Given the description of an element on the screen output the (x, y) to click on. 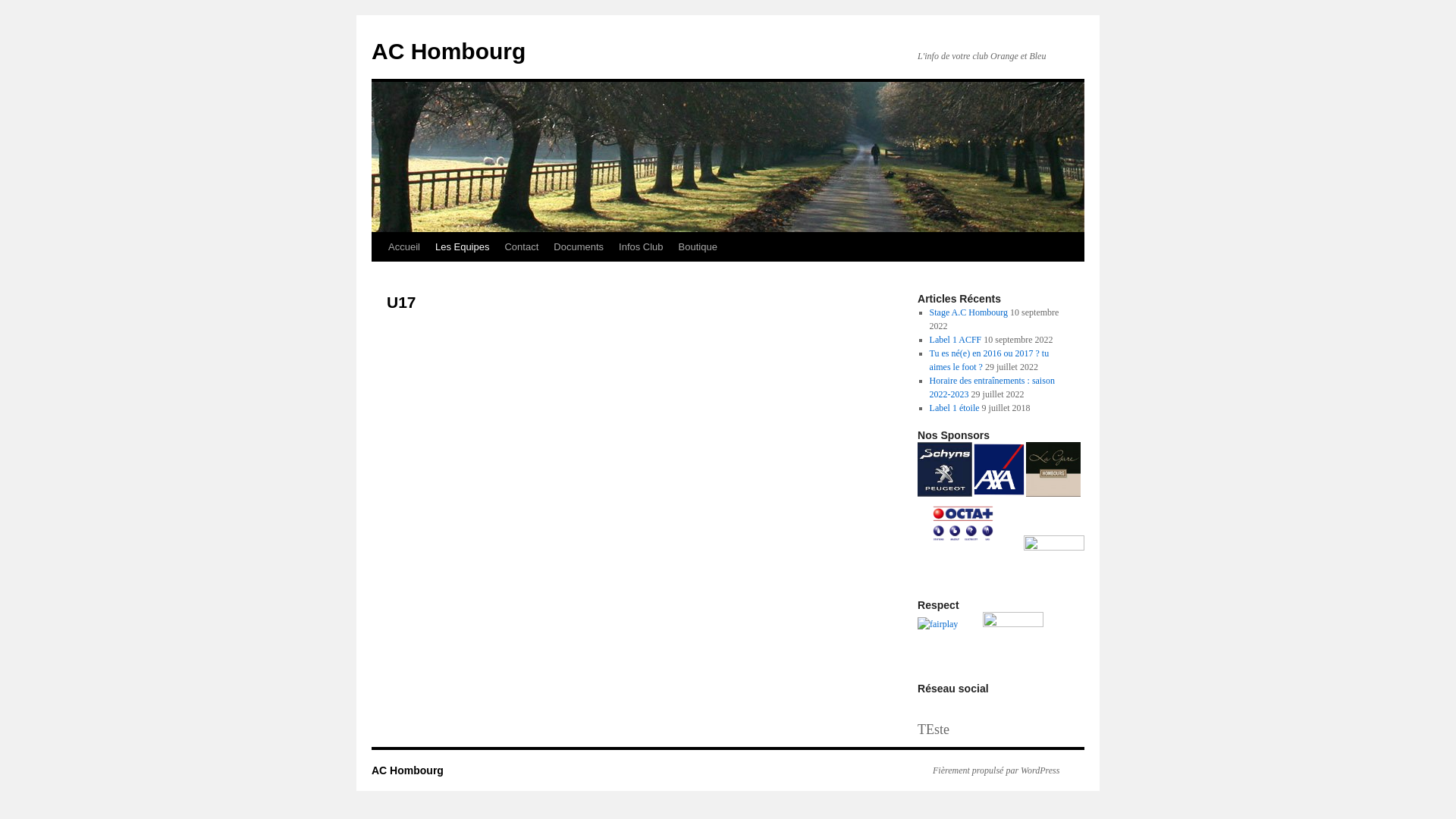
Les Equipes Element type: text (462, 246)
Infos Club Element type: text (641, 246)
Documents Element type: text (578, 246)
AC Hombourg Element type: text (407, 770)
Boutique Element type: text (697, 246)
Stage A.C Hombourg Element type: text (968, 312)
Contact Element type: text (521, 246)
Accueil Element type: text (403, 246)
AC Hombourg Element type: text (448, 50)
Aller au contenu Element type: text (377, 275)
Label 1 ACFF Element type: text (955, 339)
